Given the description of an element on the screen output the (x, y) to click on. 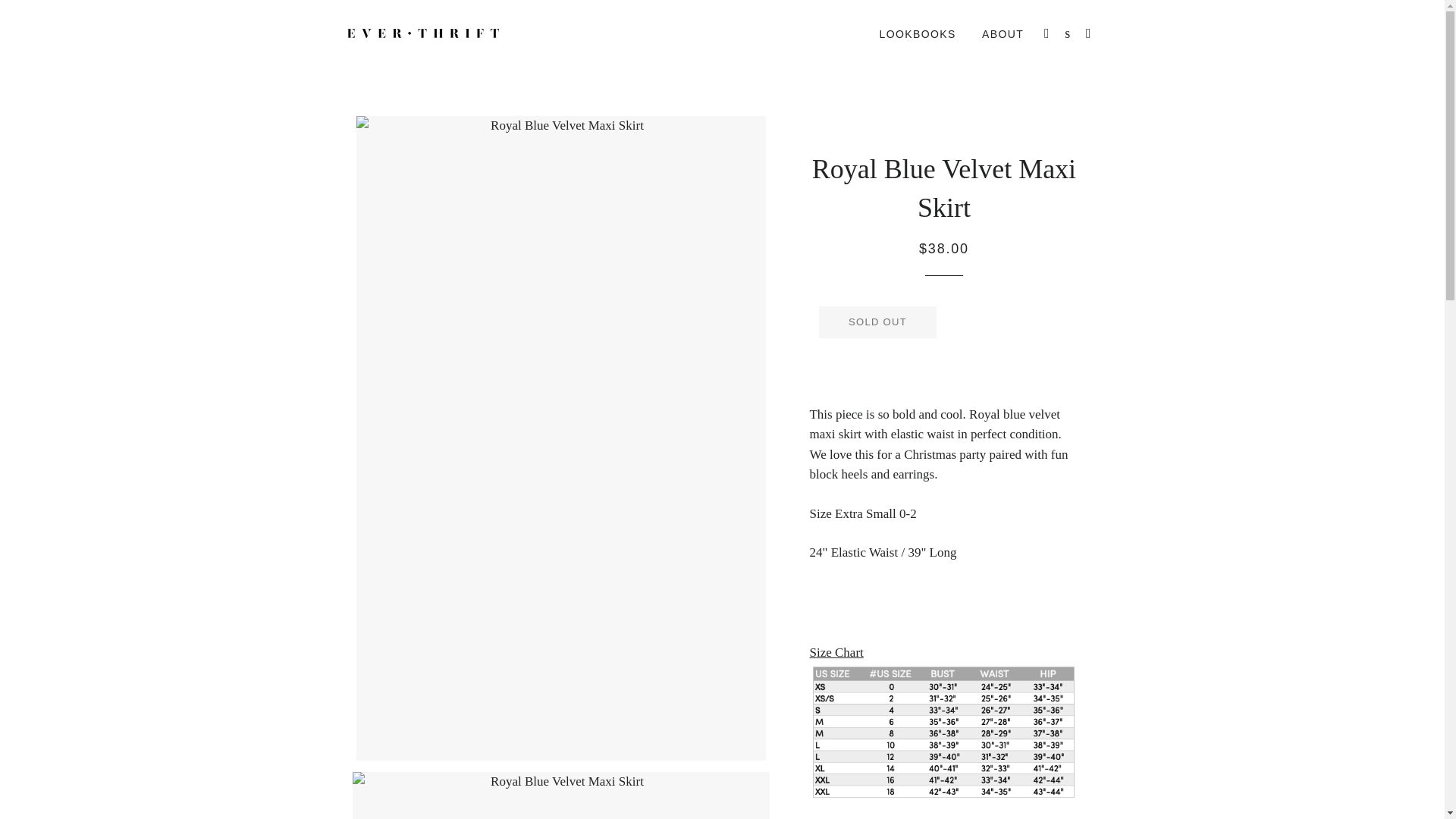
SOLD OUT (877, 322)
LOOKBOOKS (916, 34)
ABOUT (1003, 34)
